Given the description of an element on the screen output the (x, y) to click on. 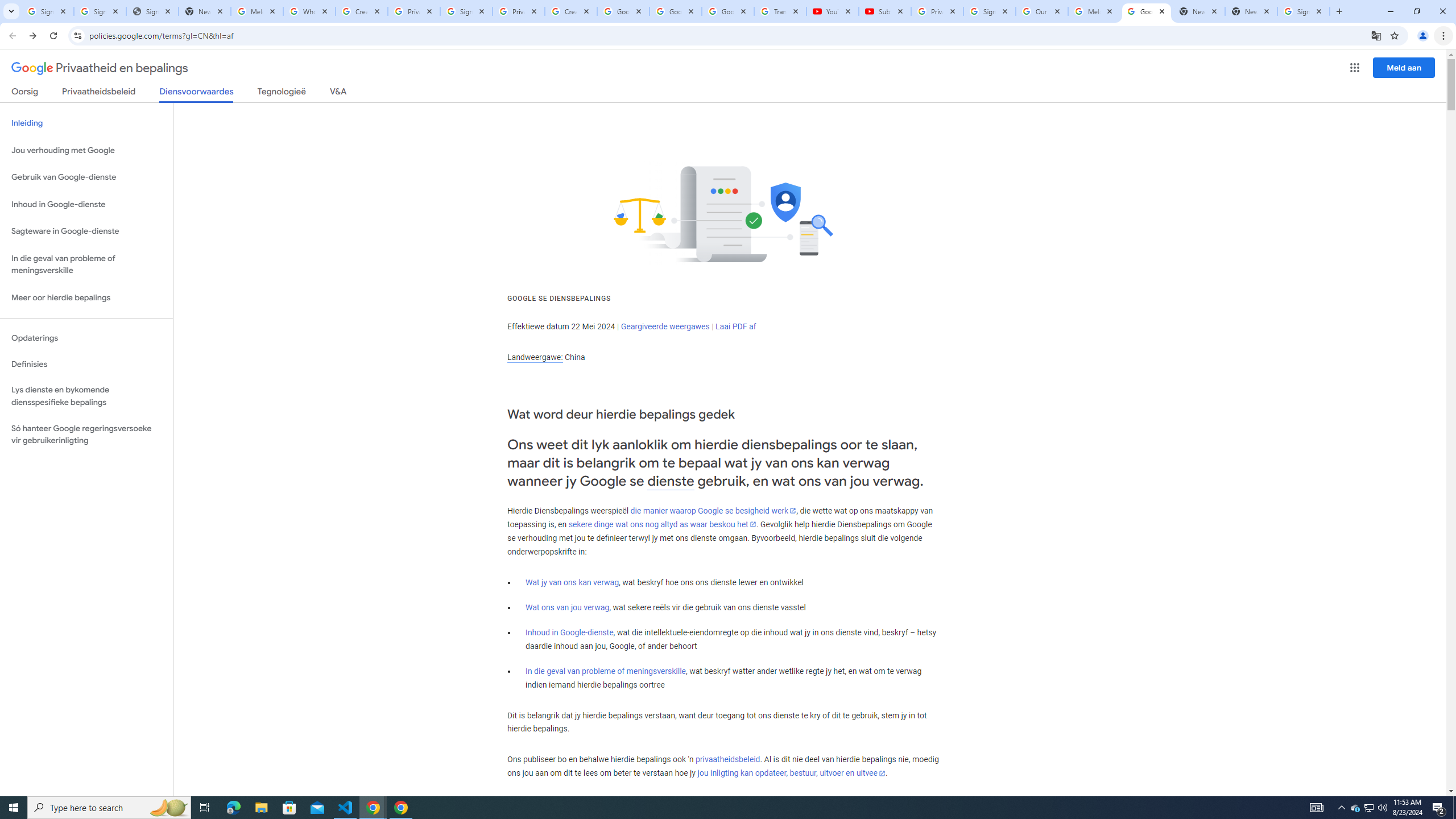
Diensvoorwaardes (196, 94)
privaatheidsbeleid (727, 759)
Inhoud in Google-dienste (568, 632)
die manier waarop Google se besigheid werk (713, 510)
Definisies (86, 363)
Oorsig (25, 93)
Create your Google Account (361, 11)
